Given the description of an element on the screen output the (x, y) to click on. 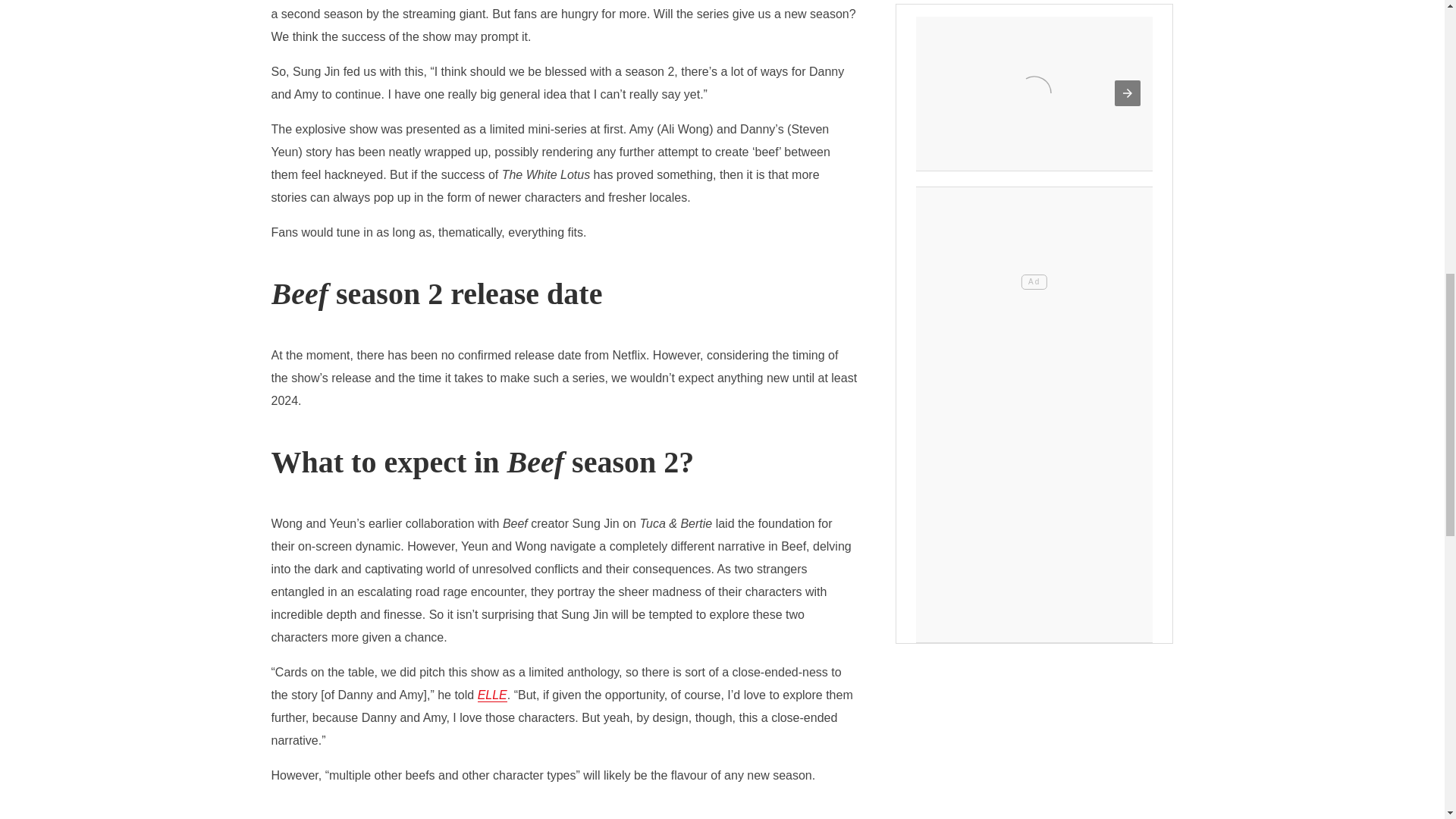
ELLE (491, 694)
